Given the description of an element on the screen output the (x, y) to click on. 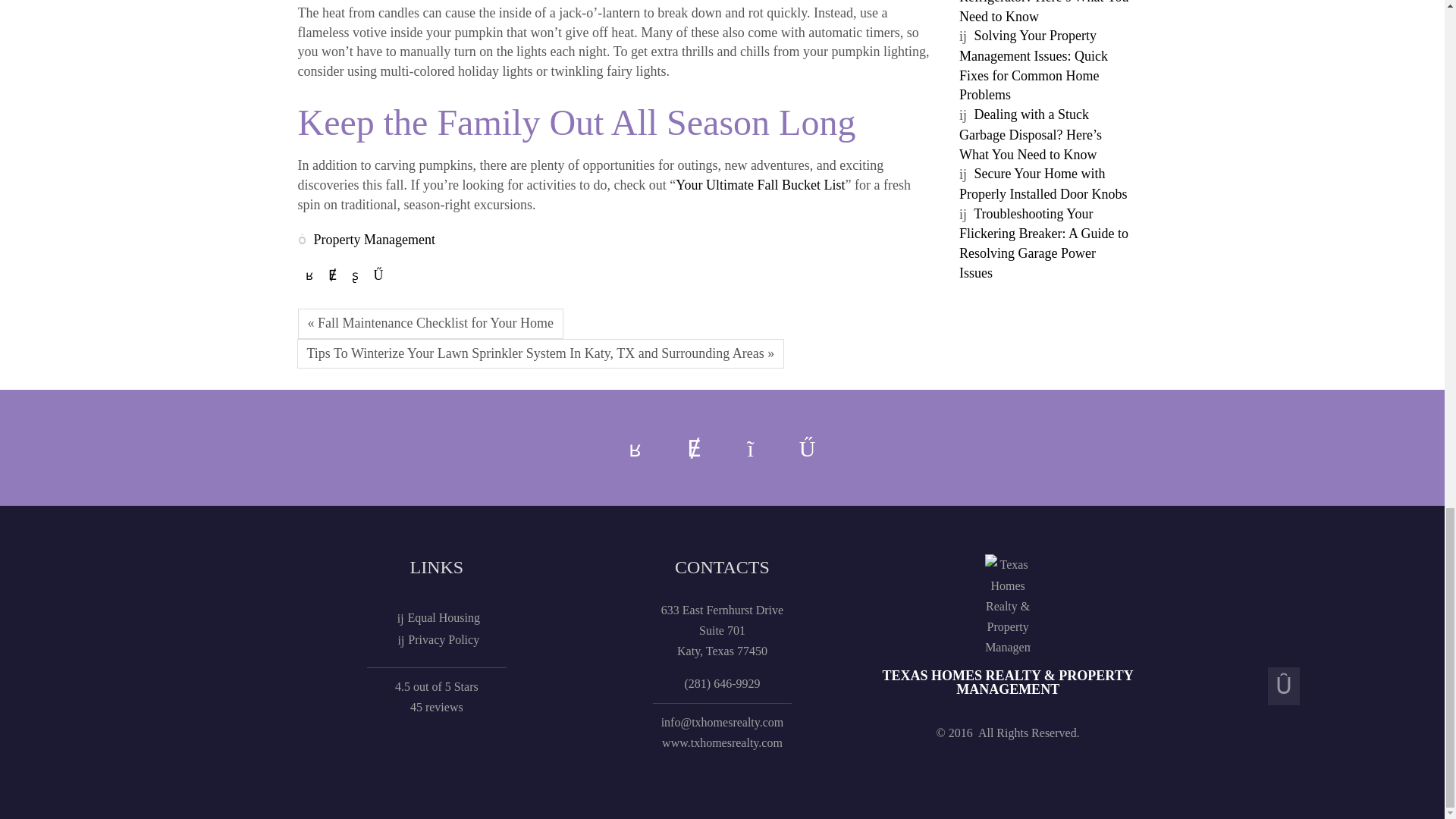
Fall Maintenance Checklist for Your Home (429, 323)
Your Ultimate Fall Bucket List (759, 184)
Property Management (374, 239)
